Given the description of an element on the screen output the (x, y) to click on. 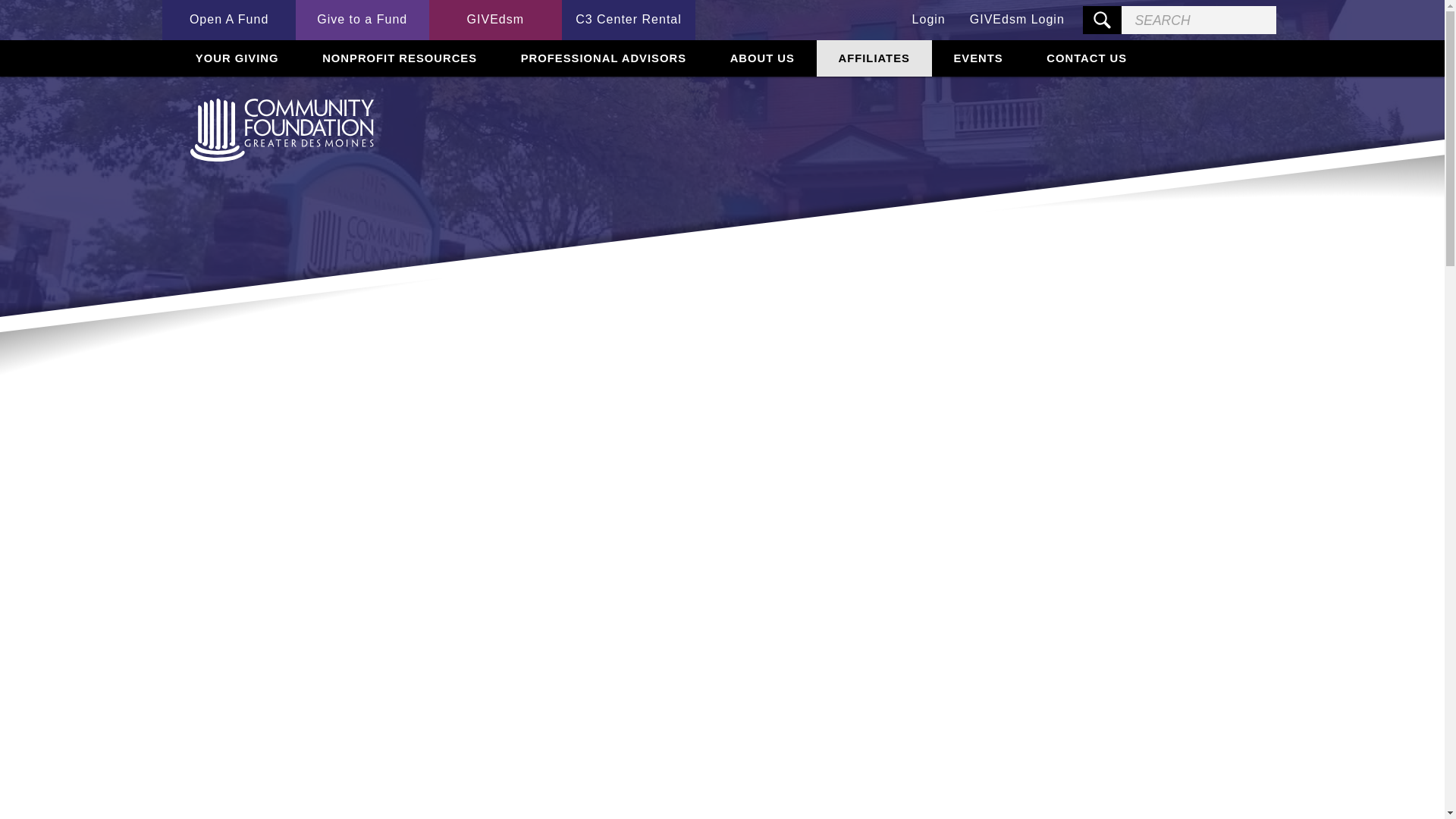
Give to a Fund (362, 20)
Login (928, 20)
GIVEdsm (495, 20)
Open A Fund (228, 20)
Search (1102, 19)
C3 Center Rental (628, 20)
YOUR GIVING (236, 58)
